Given the description of an element on the screen output the (x, y) to click on. 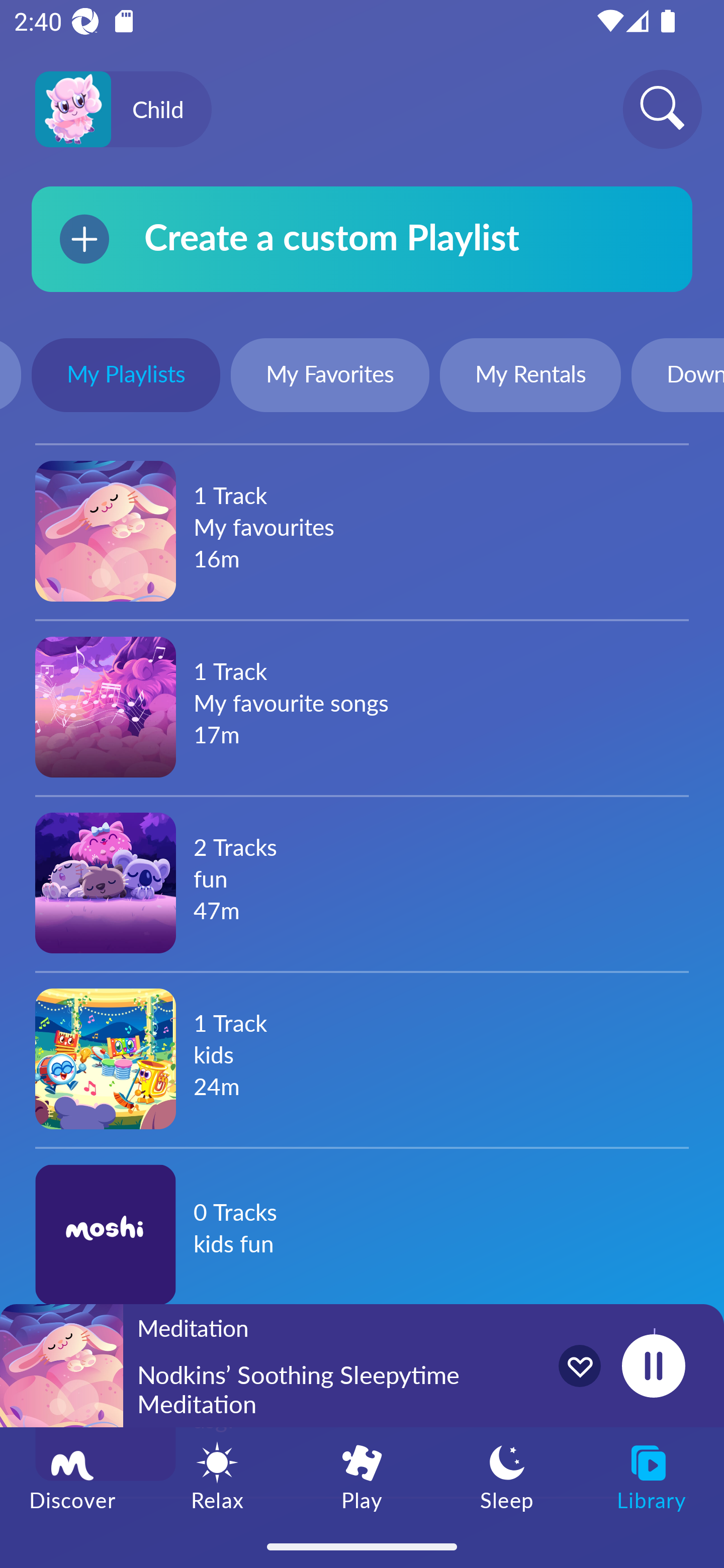
Profile icon Child (123, 109)
Create a custom Playlist (361, 238)
My Playlists (125, 377)
My Favorites (329, 377)
My Rentals (530, 377)
Downloaded (677, 377)
1 Track My favourites 16m (362, 531)
1 Track My favourite songs 17m (362, 706)
2 Tracks fun 47m (362, 882)
1 Track kids 24m (362, 1058)
0 Tracks kids fun (362, 1234)
0.006251042 Pause (653, 1365)
Discover (72, 1475)
Relax (216, 1475)
Play (361, 1475)
Sleep (506, 1475)
